Given the description of an element on the screen output the (x, y) to click on. 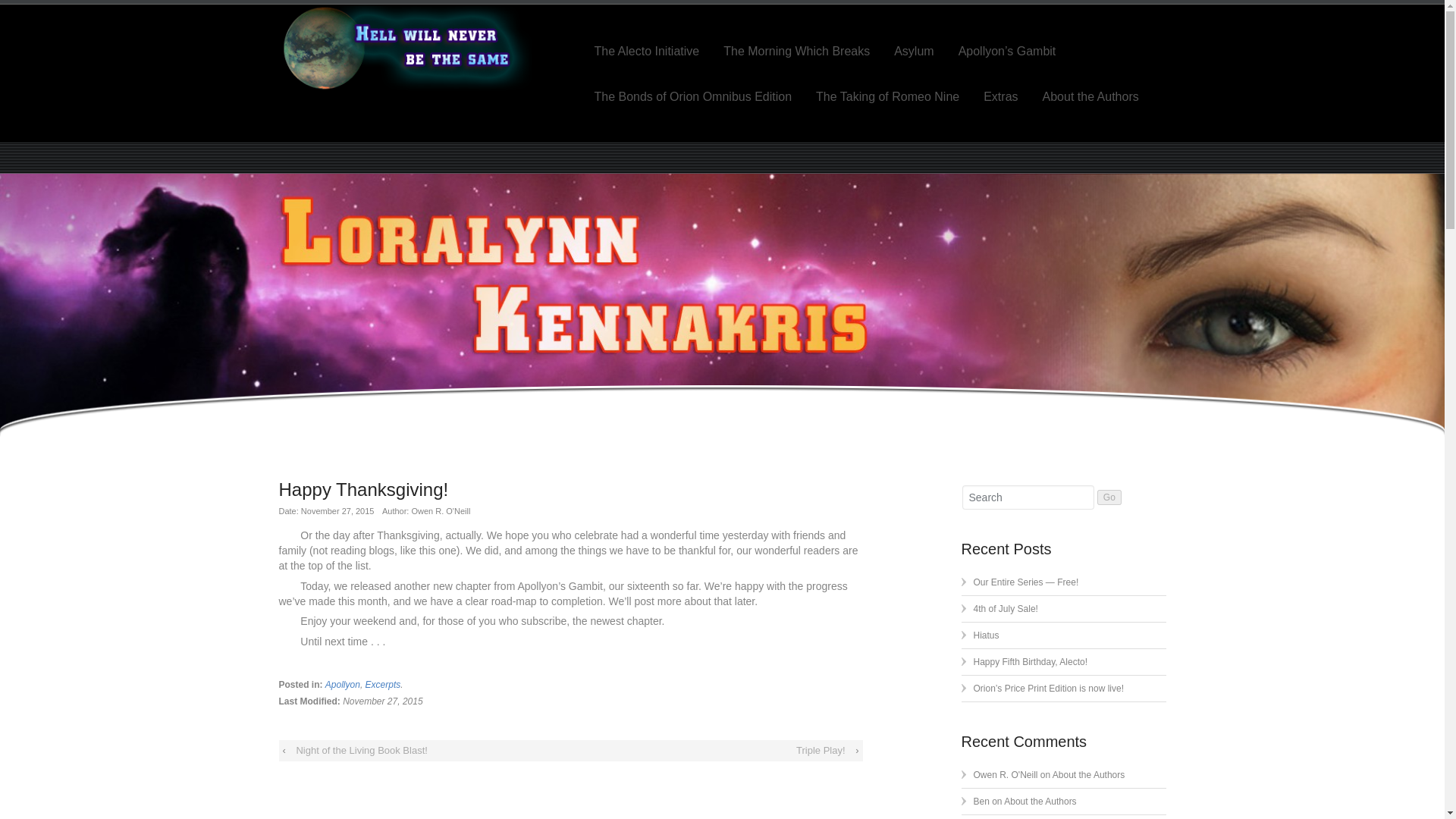
4th of July Sale! (1006, 608)
Go (1109, 497)
The Morning Which Breaks (796, 51)
Loralynn Kennakris (419, 48)
Triple Play! (821, 750)
The Bonds of Orion Omnibus Edition (692, 96)
Night of the Living Book Blast! (360, 750)
The Taking of Romeo Nine (887, 96)
About the Authors (1088, 774)
Asylum (913, 51)
About the Authors (1086, 96)
Extras (1000, 96)
About the Authors (1039, 801)
Excerpts (383, 684)
The Alecto Initiative (646, 51)
